Given the description of an element on the screen output the (x, y) to click on. 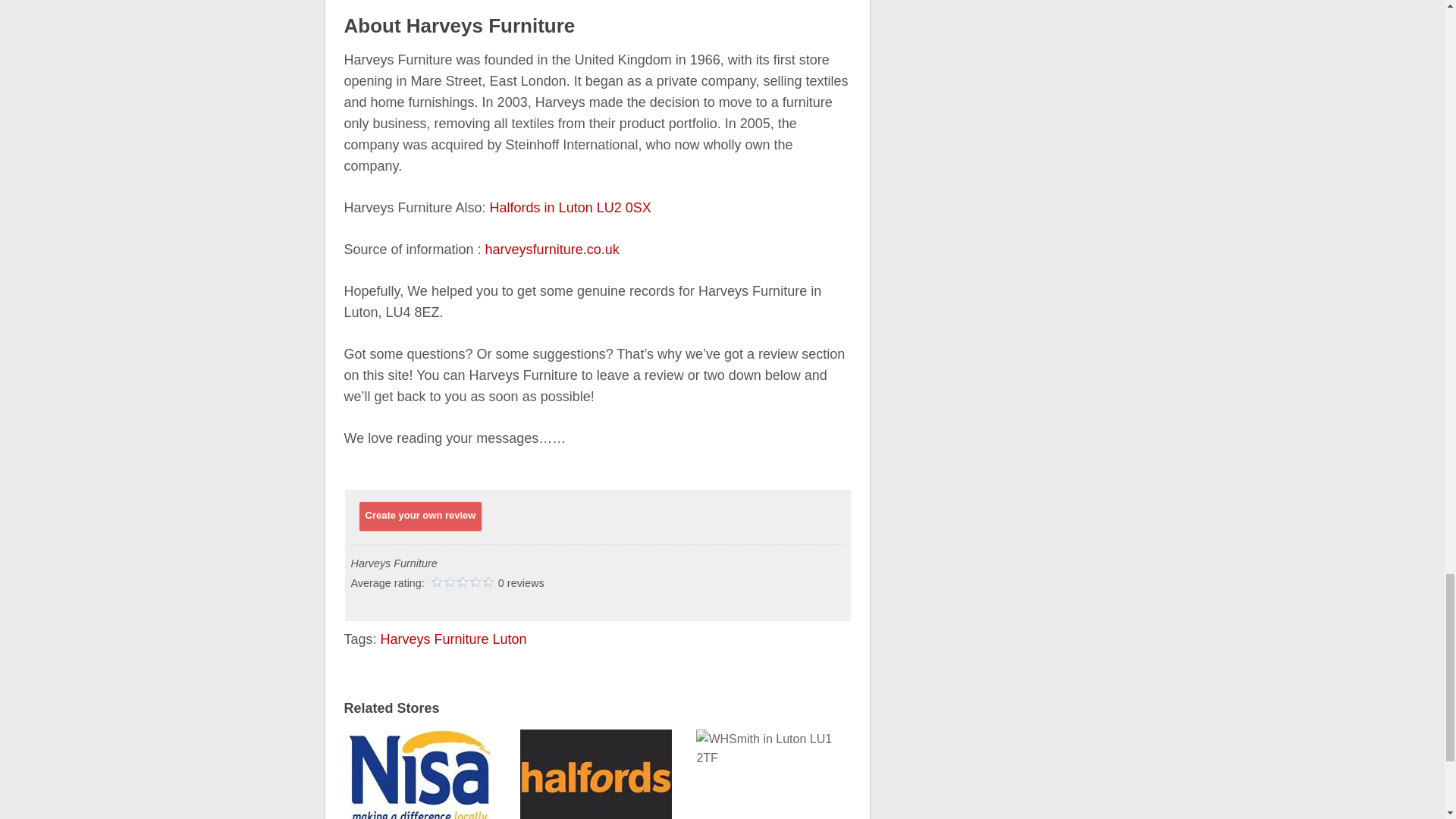
Nisa ATM in Houghton Regis, Dunstable LU5 5RS (419, 772)
WHSmith in Luton LU1 2TF (771, 772)
Halfords in Leighton Buzzard LU7 1EN (595, 772)
